Given the description of an element on the screen output the (x, y) to click on. 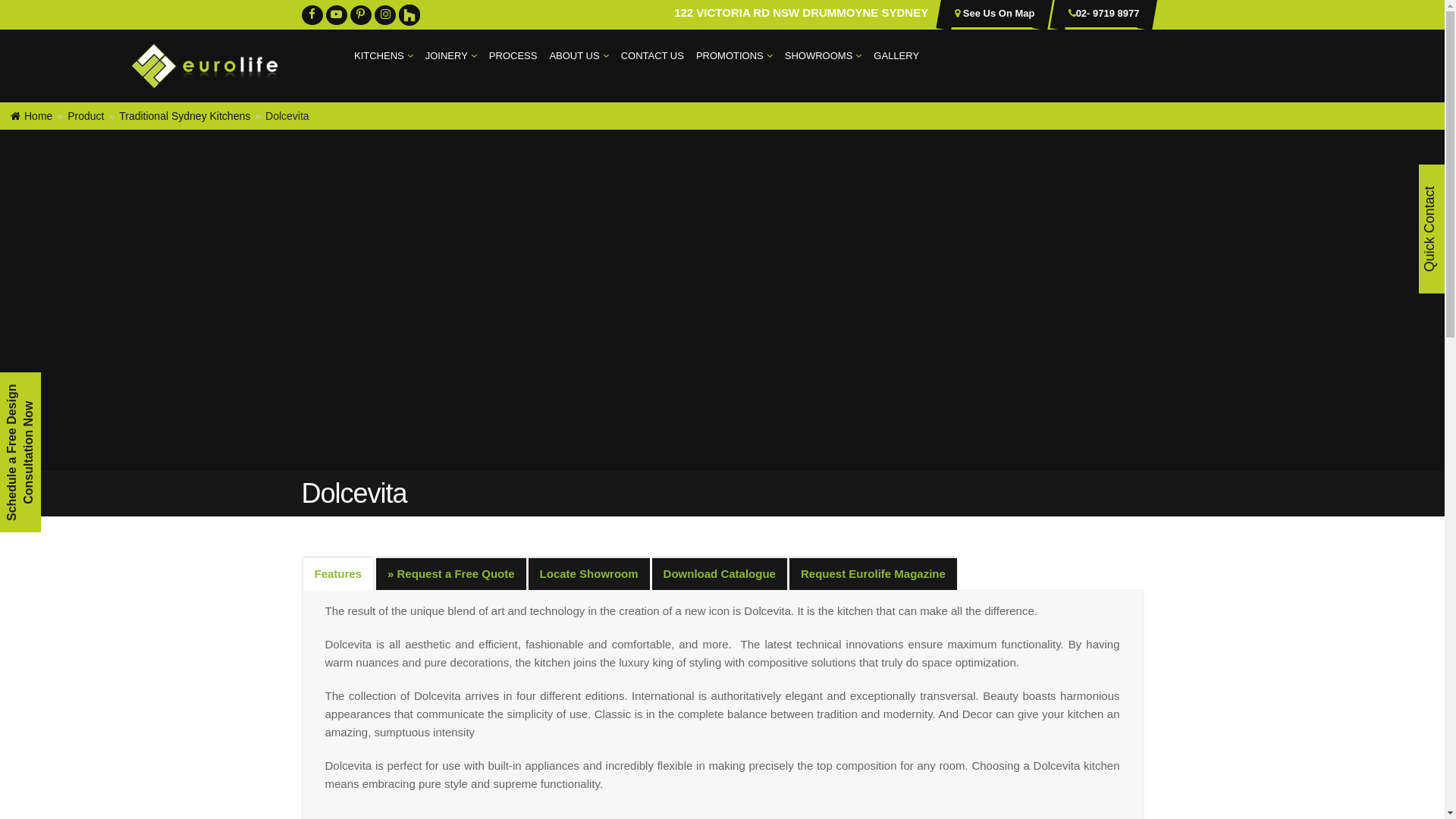
KITCHENS Element type: text (383, 55)
02- 9719 8977 Element type: text (1107, 12)
SHOWROOMS Element type: text (823, 55)
Traditional Sydney Kitchens Element type: text (184, 115)
PROMOTIONS Element type: text (734, 55)
CONTACT US Element type: text (652, 55)
See Us On Map Element type: text (997, 12)
Locate Showroom Element type: text (588, 573)
Home Element type: text (31, 115)
PROCESS Element type: text (513, 55)
JOINERY Element type: text (451, 55)
Features Element type: text (337, 574)
Product Element type: text (85, 115)
GALLERY Element type: text (896, 55)
ABOUT US Element type: text (578, 55)
Download Catalogue Element type: text (719, 573)
Request Eurolife Magazine Element type: text (873, 573)
